Given the description of an element on the screen output the (x, y) to click on. 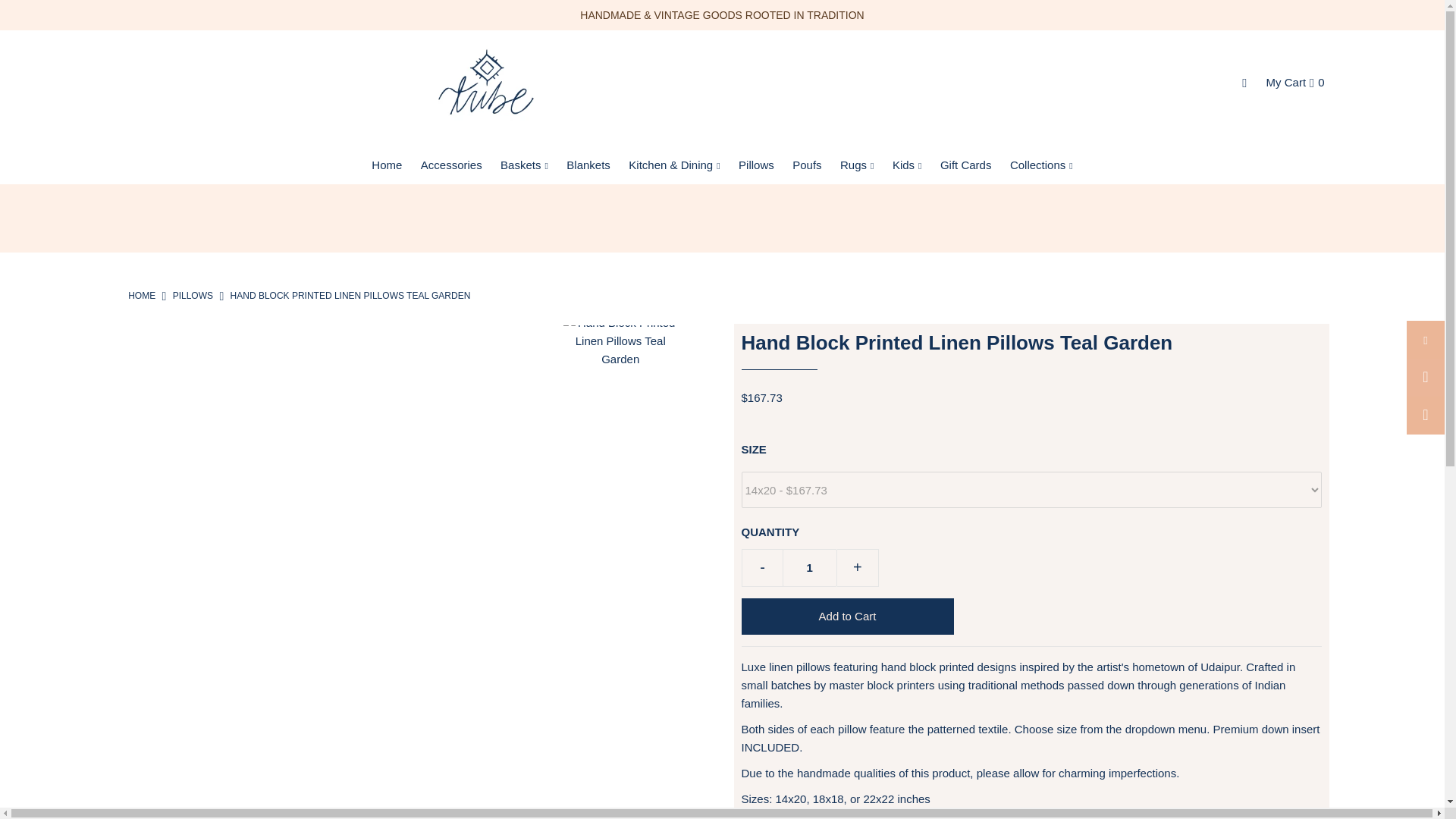
Share on Facebook (1425, 339)
Add to Cart (847, 616)
Home (141, 295)
1 (810, 567)
Share on Pinterest (1425, 415)
Share on Twitter (1425, 377)
